Given the description of an element on the screen output the (x, y) to click on. 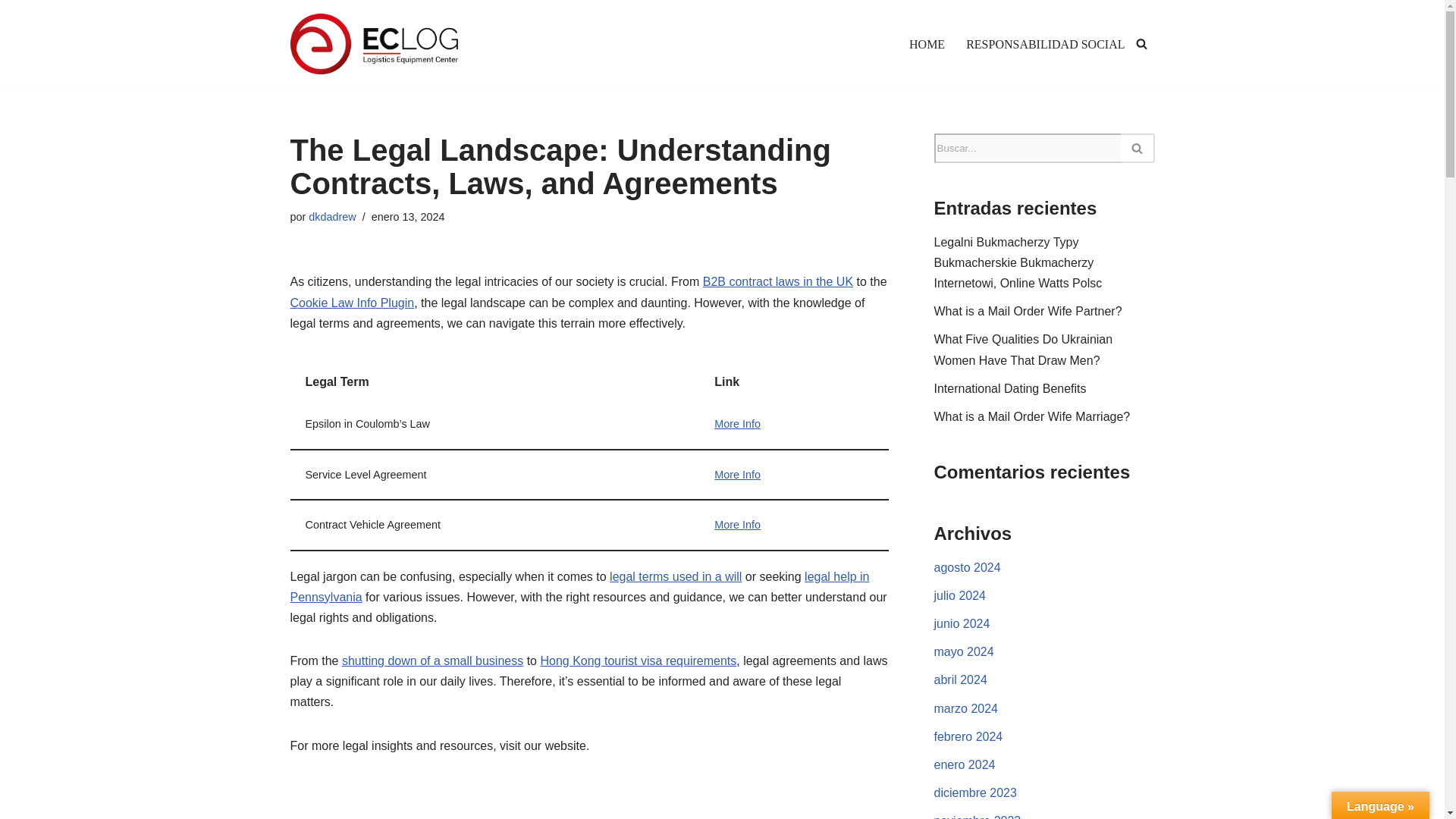
Cookie Law Info Plugin (351, 302)
julio 2024 (960, 594)
abril 2024 (960, 679)
HOME (926, 44)
More Info (737, 474)
shutting down of a small business (432, 660)
What is a Mail Order Wife Partner? (1028, 310)
International Dating Benefits (1010, 388)
junio 2024 (962, 623)
